Given the description of an element on the screen output the (x, y) to click on. 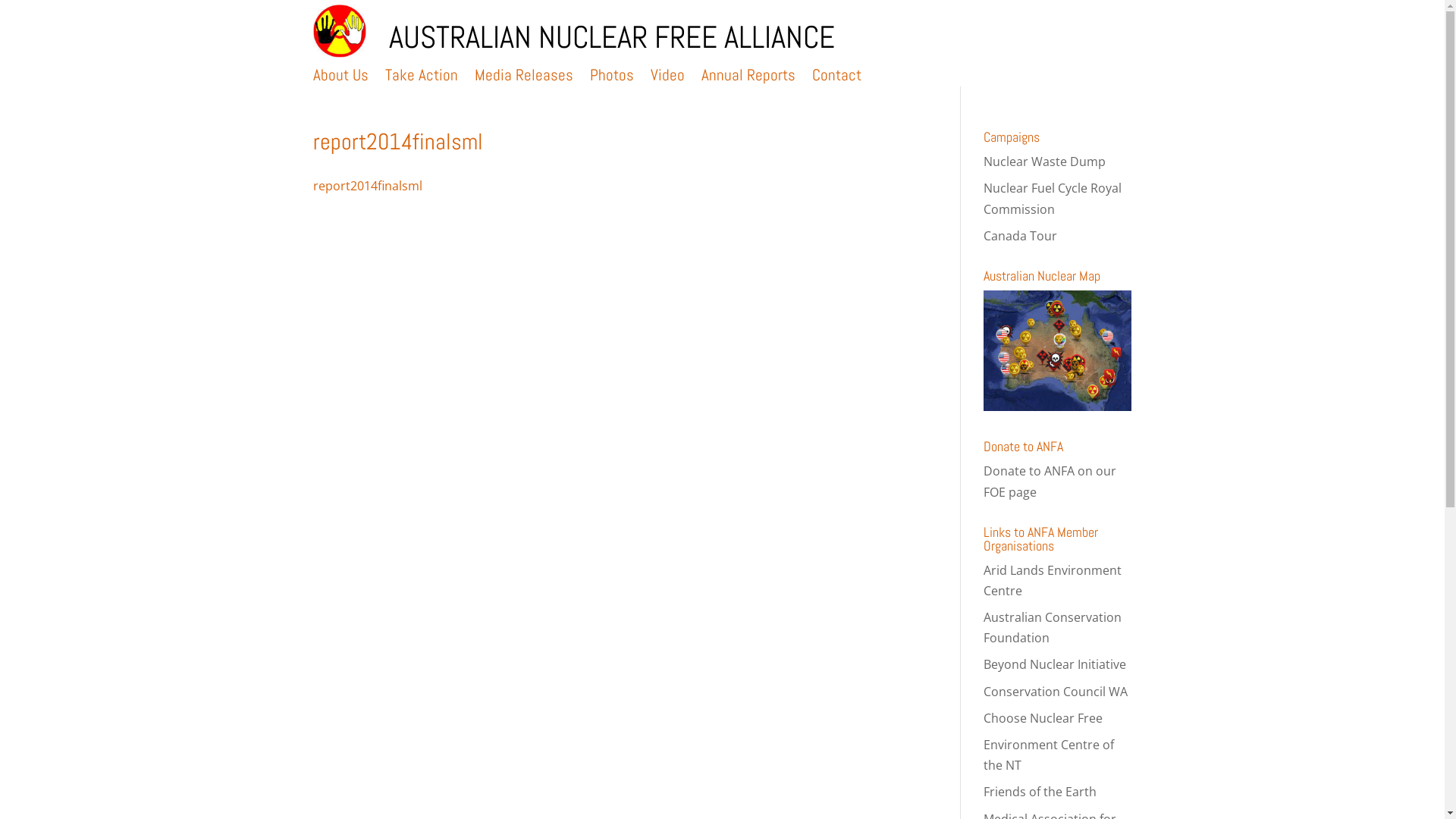
Media Releases Element type: text (523, 77)
Donate to ANFA on our FOE page Element type: text (1049, 480)
Nuclear Fuel Cycle Royal Commission Element type: text (1052, 197)
Photos Element type: text (611, 77)
Choose Nuclear Free Element type: text (1042, 717)
About Us Element type: text (339, 77)
Environment Centre of the NT Element type: text (1048, 754)
Nuclear Waste Dump Element type: text (1044, 161)
Friends of the Earth Element type: text (1039, 791)
Australian Conservation Foundation Element type: text (1052, 627)
Australian Nuclear Free Alliance Element type: hover (338, 46)
Take Action Element type: text (421, 77)
Arid Lands Environment Centre Element type: text (1052, 580)
report2014finalsml Element type: text (366, 185)
Contact Element type: text (835, 77)
Conservation Council WA Element type: text (1055, 691)
Beyond Nuclear Initiative Element type: text (1054, 663)
Annual Reports Element type: text (747, 77)
AUSTRALIAN NUCLEAR FREE ALLIANCE Element type: text (611, 36)
Canada Tour Element type: text (1020, 235)
Video Element type: text (667, 77)
